Given the description of an element on the screen output the (x, y) to click on. 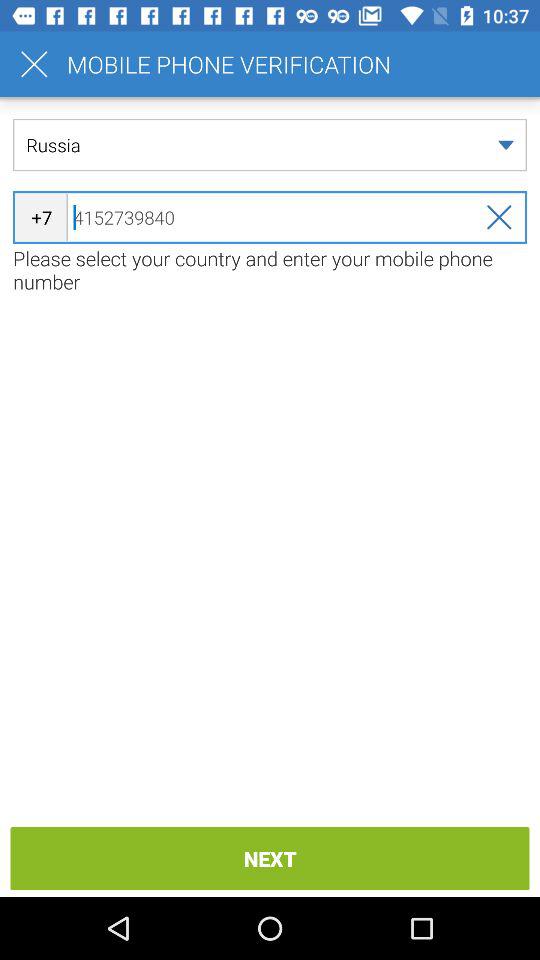
press next (269, 858)
